Given the description of an element on the screen output the (x, y) to click on. 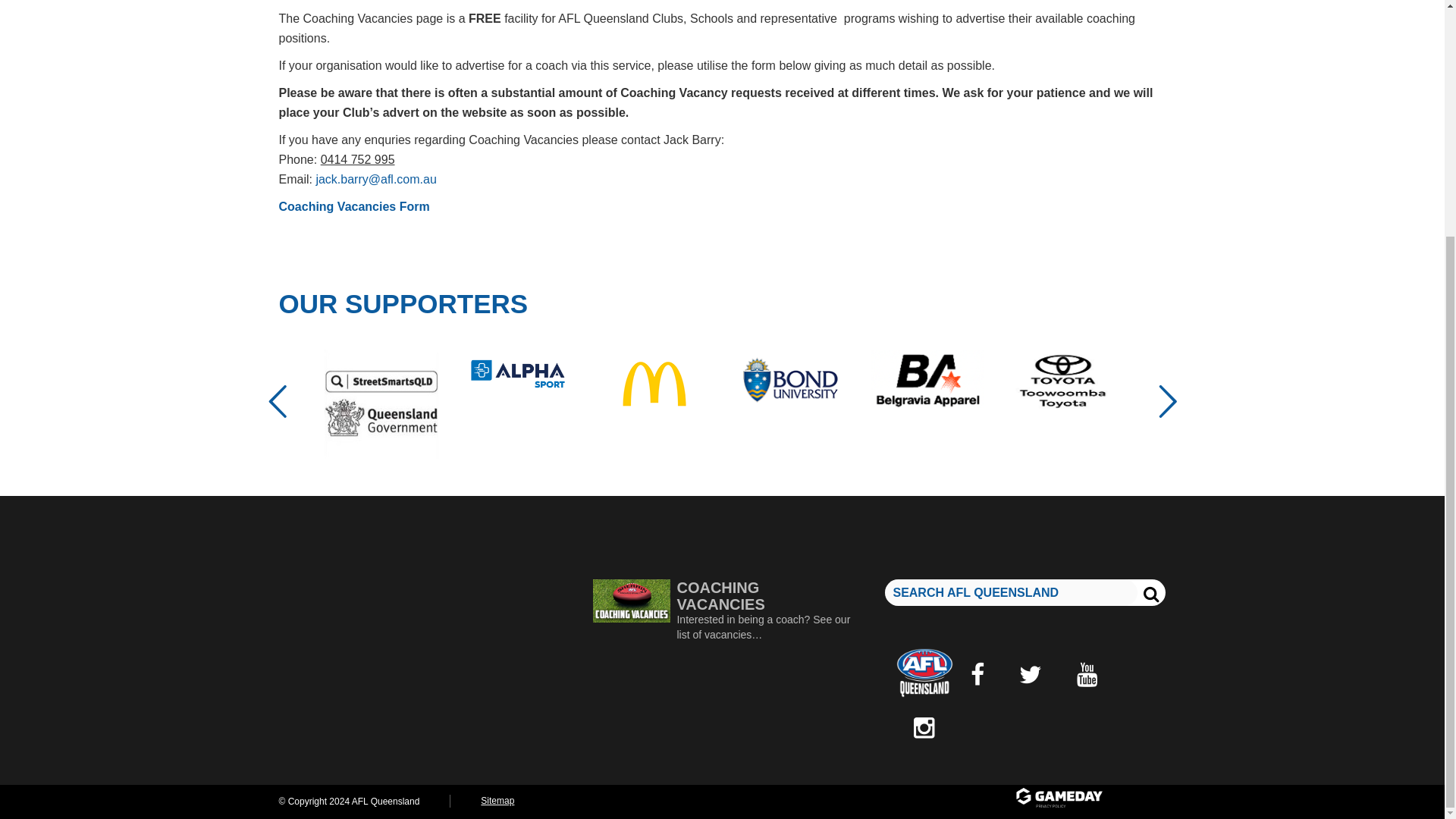
Powered by SportsTG (1089, 798)
